Given the description of an element on the screen output the (x, y) to click on. 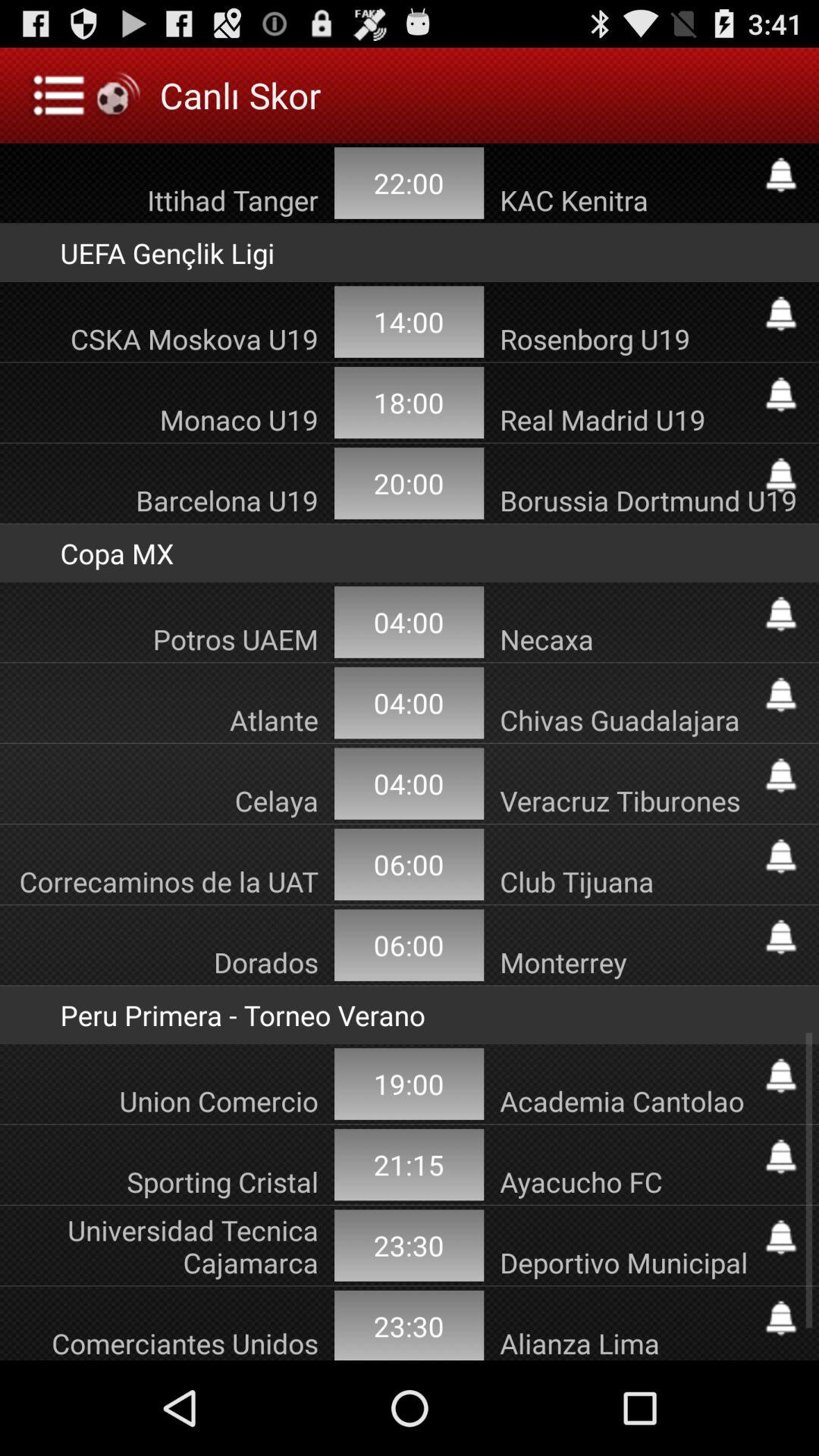
notification bell (780, 856)
